Given the description of an element on the screen output the (x, y) to click on. 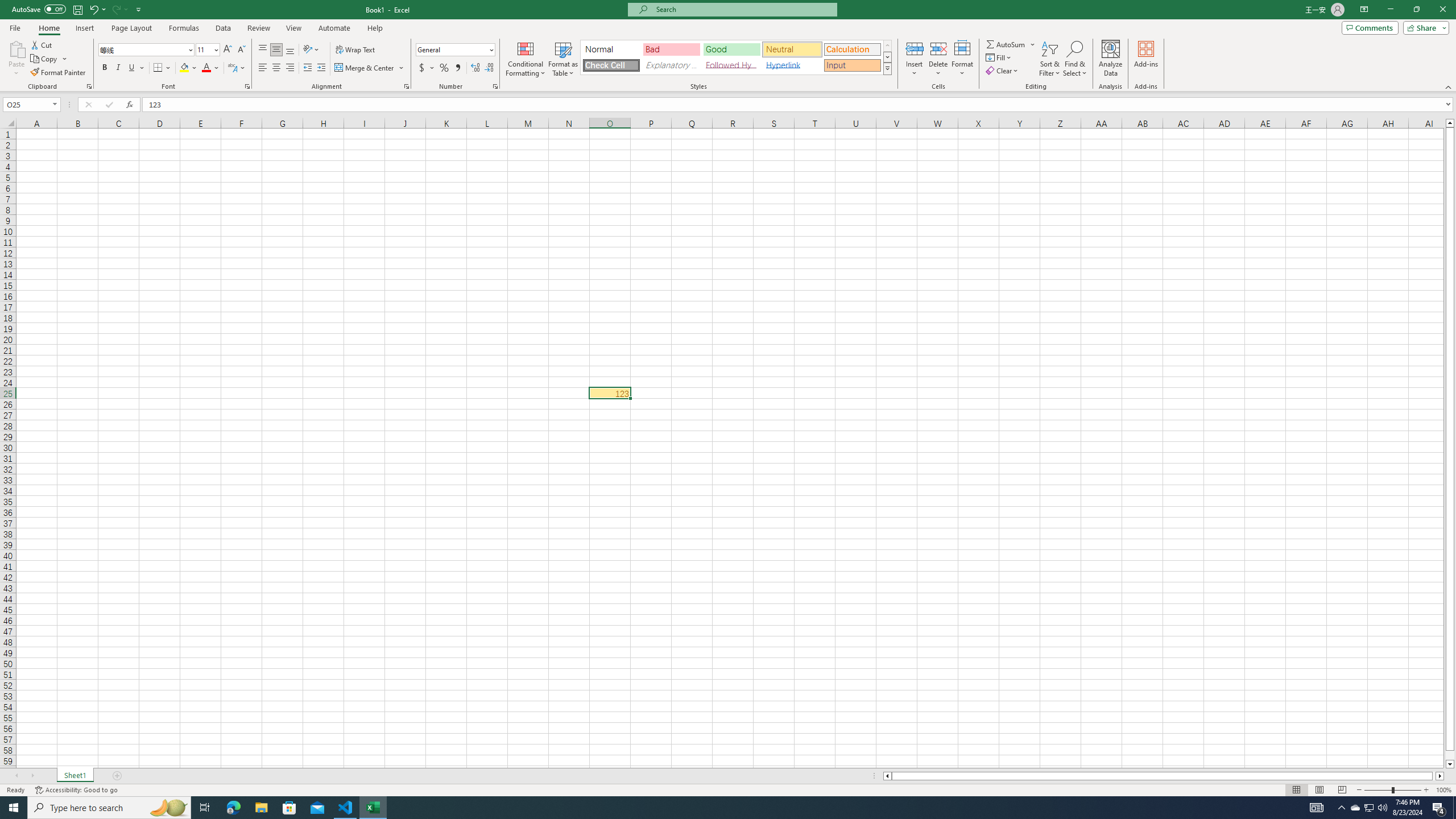
Font Color (210, 67)
Middle Align (276, 49)
Clear (1003, 69)
Line down (1449, 764)
Fill (999, 56)
Scroll Right (32, 775)
Ribbon Display Options (1364, 9)
Bold (104, 67)
Customize Quick Access Toolbar (139, 9)
Decrease Font Size (240, 49)
Page Break Preview (1342, 790)
Add Sheet (117, 775)
Fill Color RGB(255, 255, 0) (183, 67)
Share (1423, 27)
